Given the description of an element on the screen output the (x, y) to click on. 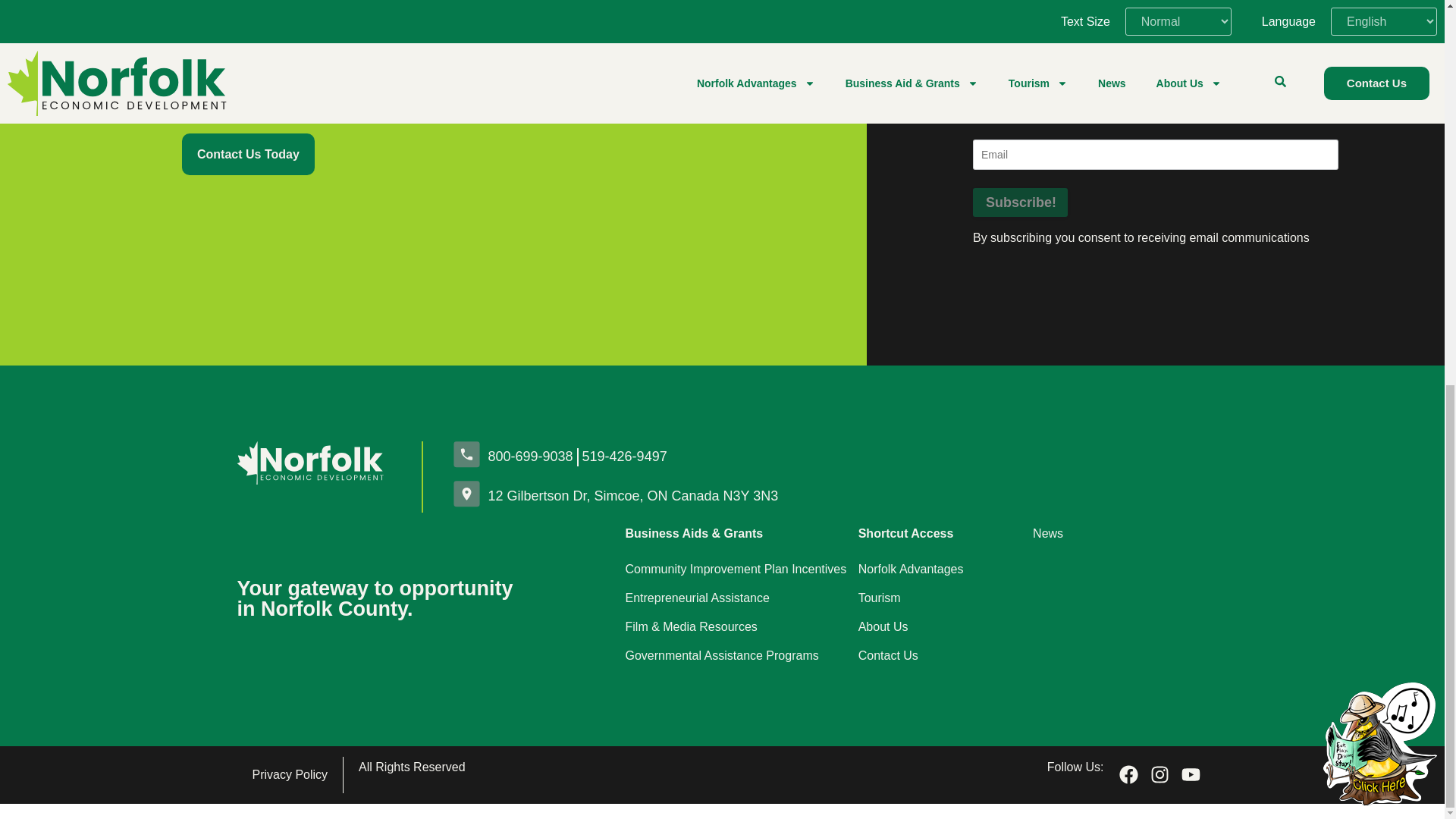
Subscribe! (1019, 202)
